Given the description of an element on the screen output the (x, y) to click on. 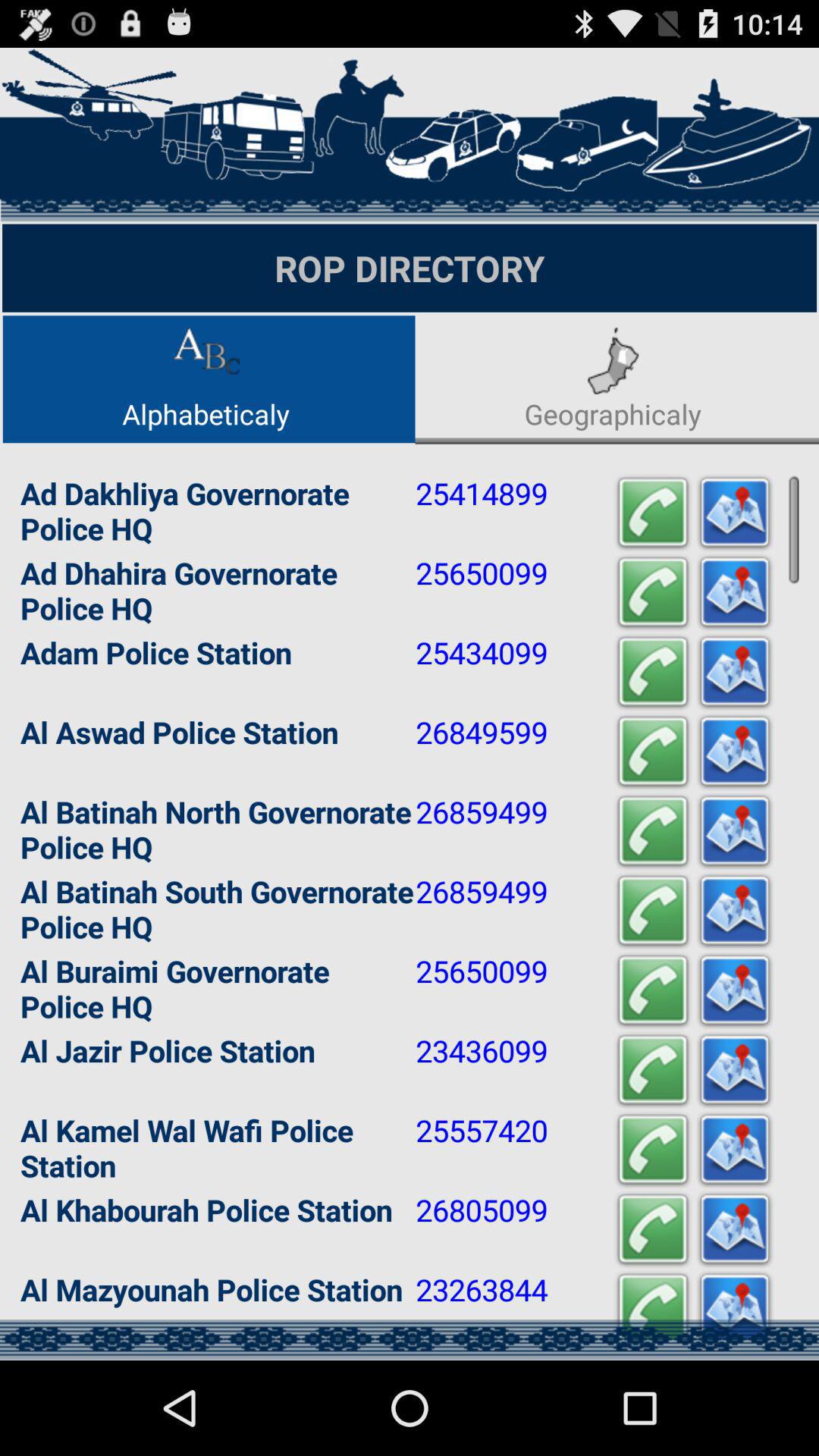
turn on the icon to the right of the 26859499 (652, 831)
